Given the description of an element on the screen output the (x, y) to click on. 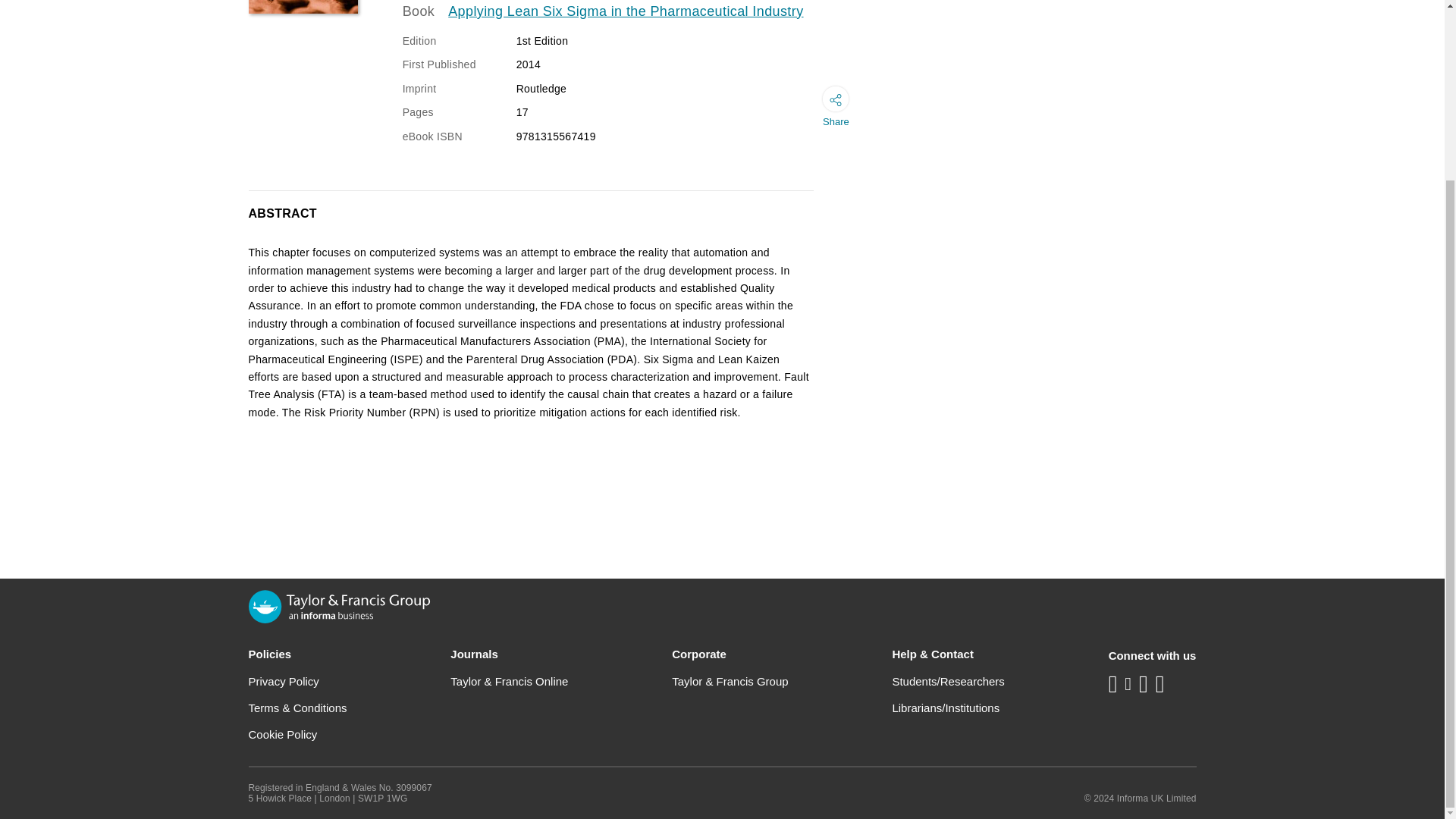
Applying Lean Six Sigma in the Pharmaceutical Industry (625, 11)
Trouble in Paradise and Catalyzing Change (303, 6)
Privacy Policy (283, 681)
Cookie Policy (282, 734)
